Given the description of an element on the screen output the (x, y) to click on. 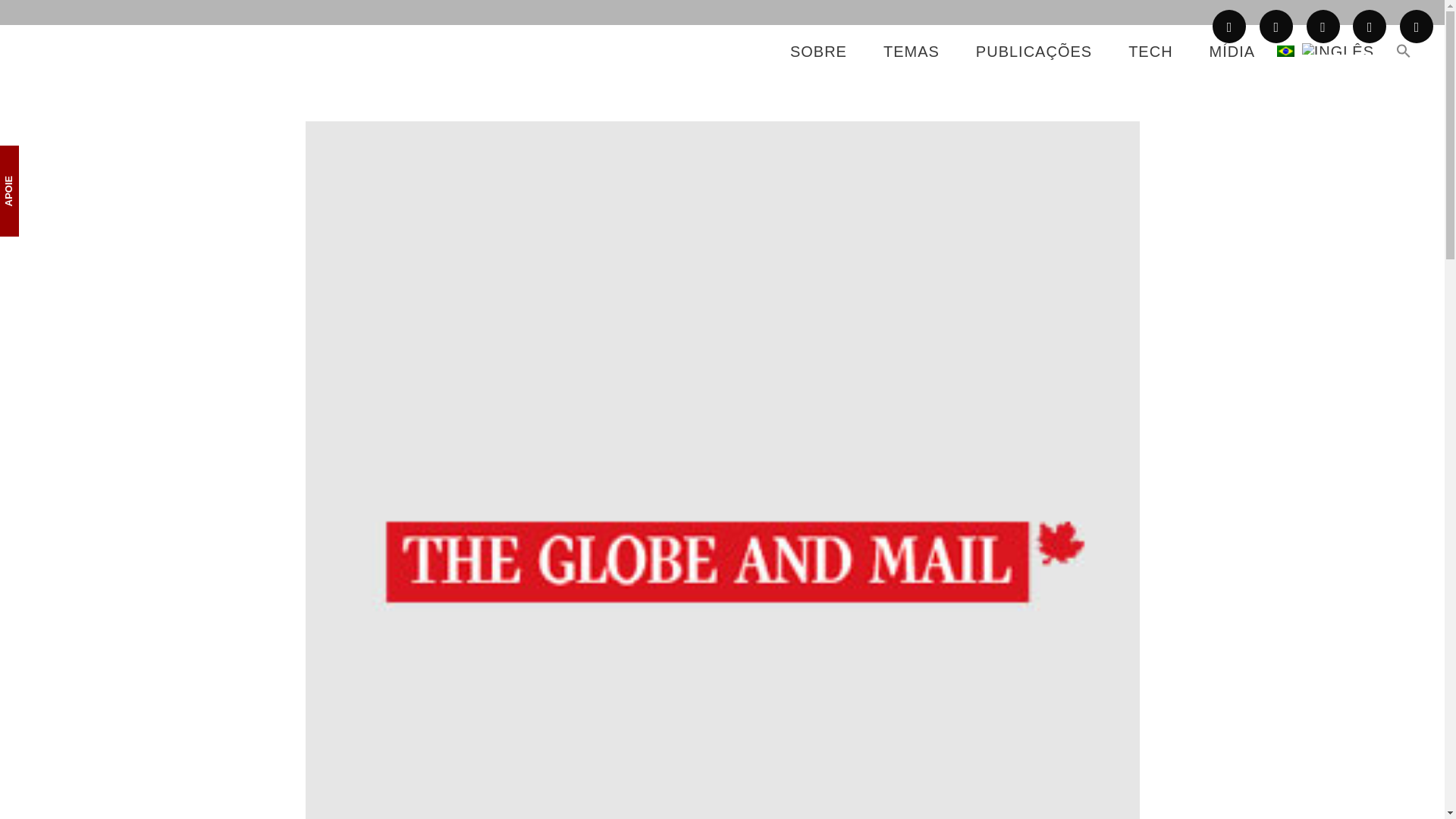
TECH (1150, 51)
SOBRE (817, 51)
TEMAS (911, 51)
